Given the description of an element on the screen output the (x, y) to click on. 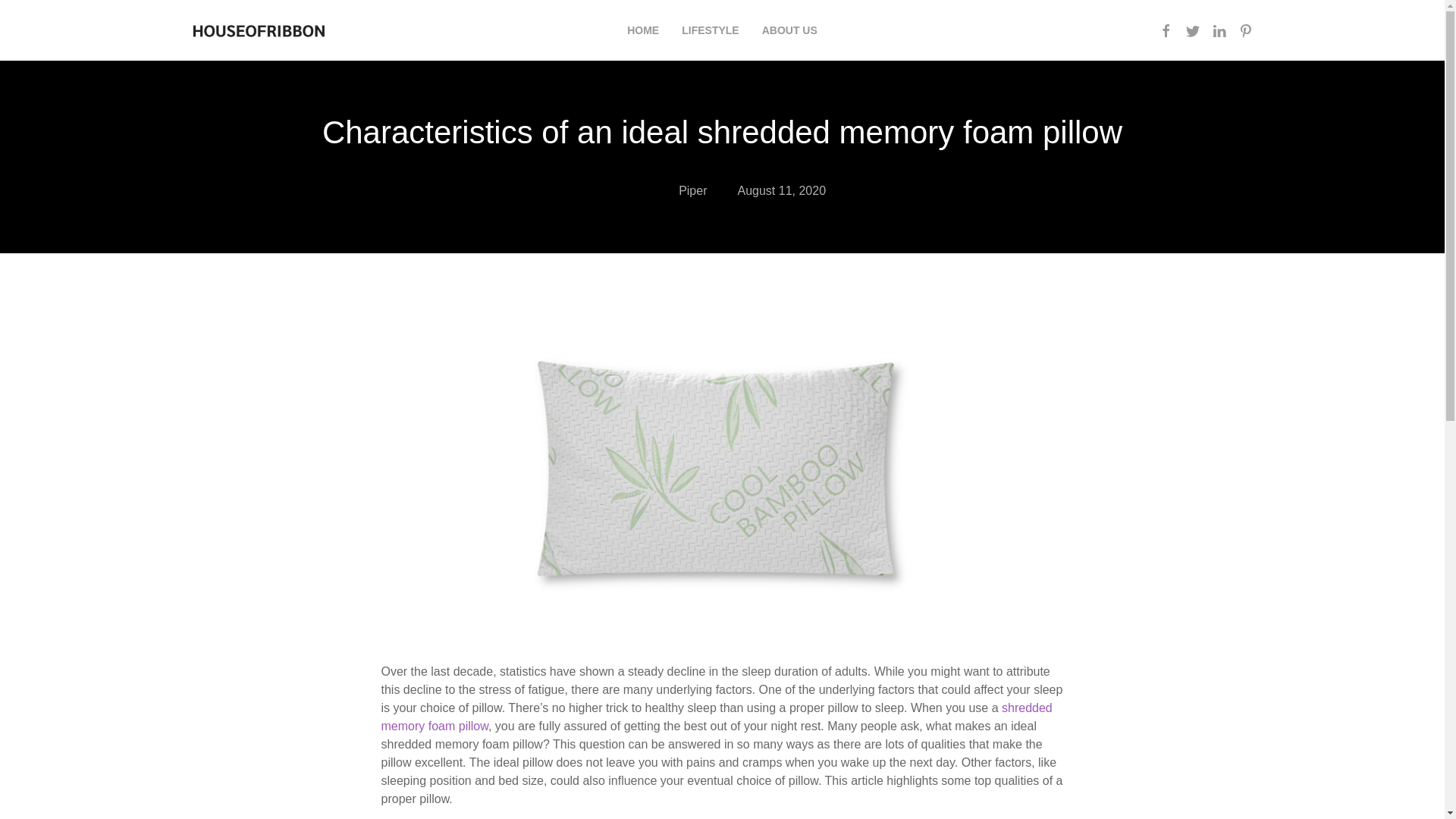
ABOUT US (788, 30)
LIFESTYLE (709, 30)
shredded memory foam pillow (715, 716)
